Given the description of an element on the screen output the (x, y) to click on. 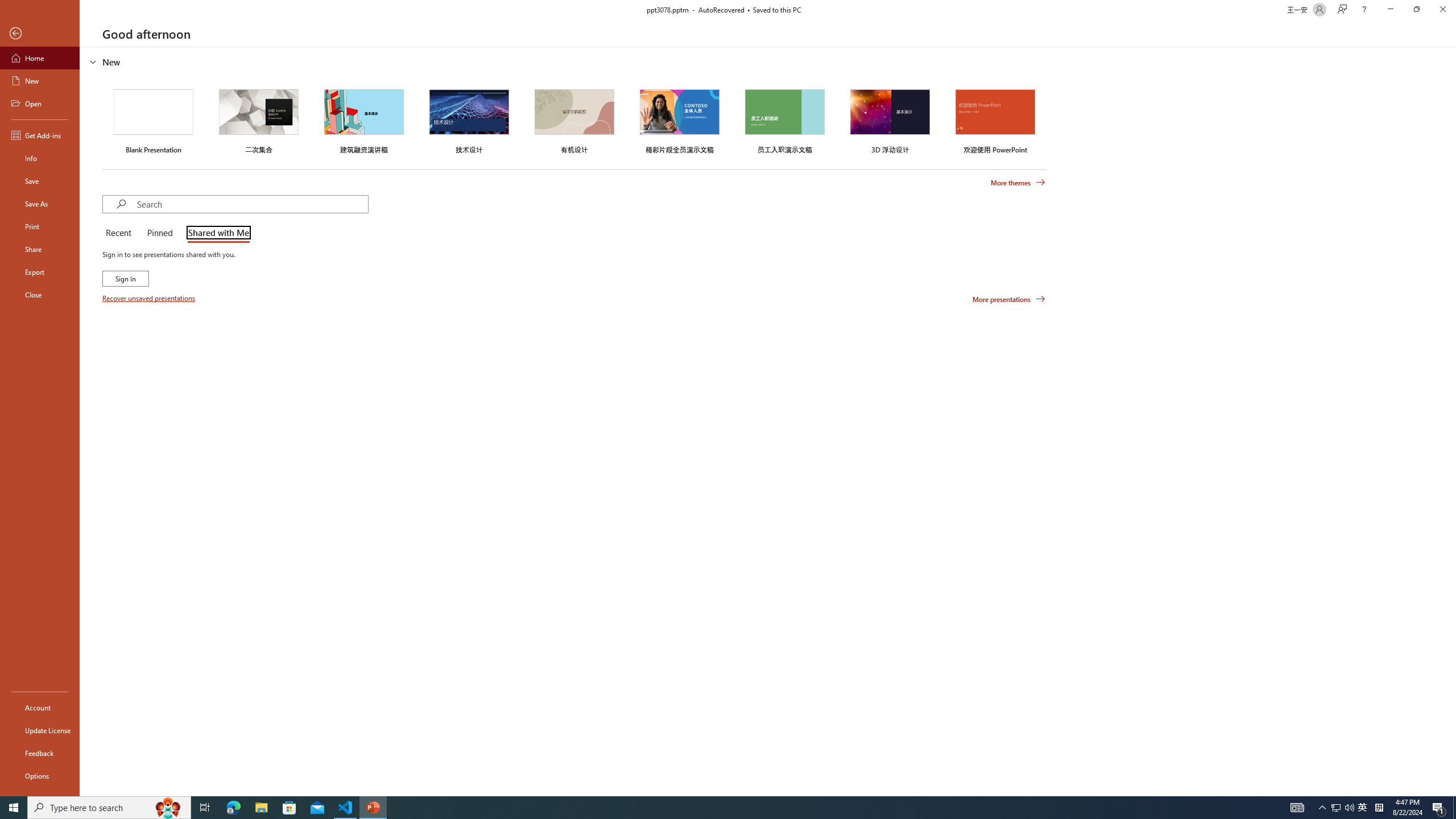
Recover unsaved presentations (149, 298)
Feedback (40, 753)
Save As (40, 203)
Blank Presentation (153, 119)
Pinned (159, 233)
